Given the description of an element on the screen output the (x, y) to click on. 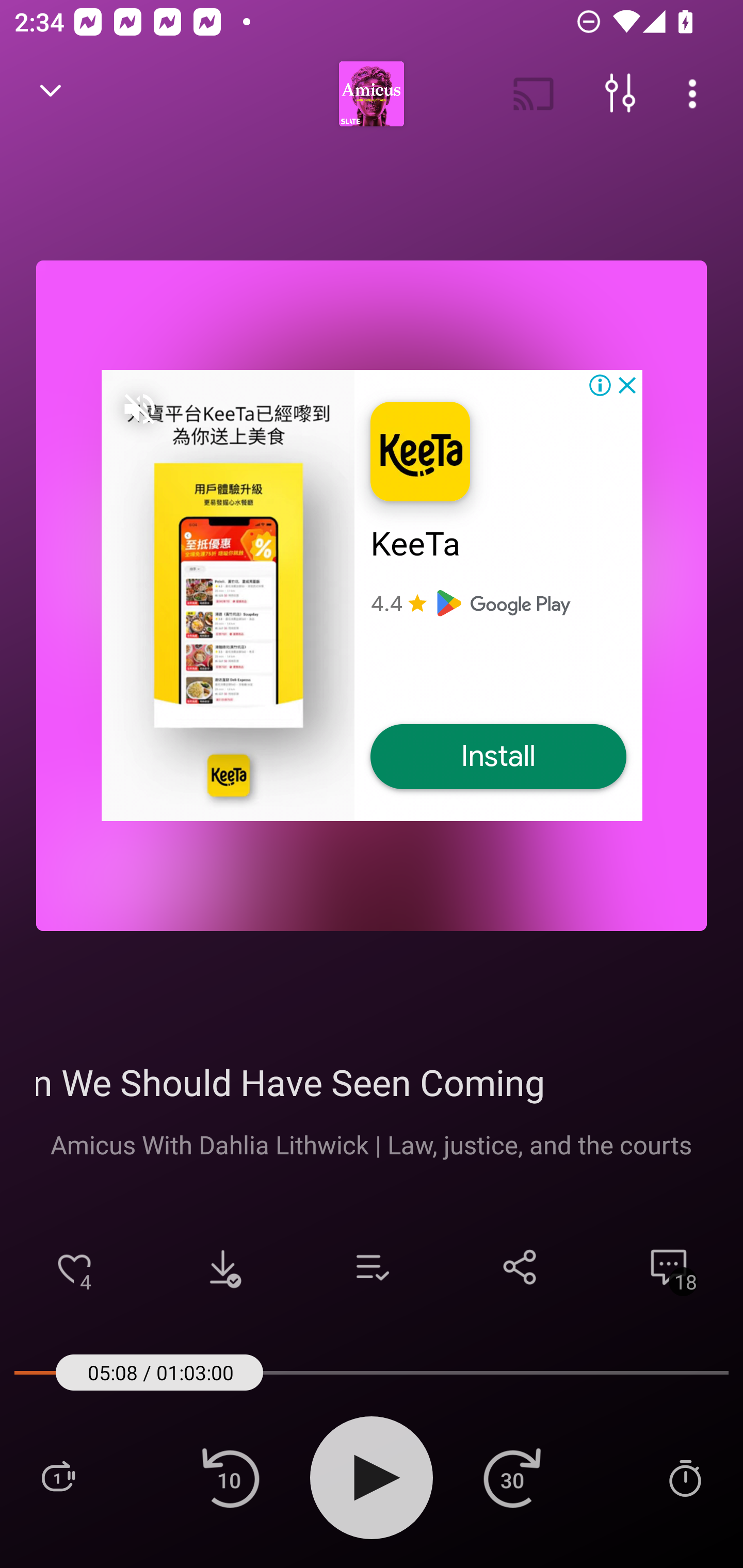
Cast. Disconnected (533, 93)
 Back (50, 94)
KeeTa 4.4 Install Install (371, 595)
Install (498, 757)
The IVF Decision We Should Have Seen Coming (371, 1081)
18 Comments (668, 1266)
Add to Favorites (73, 1266)
Add to playlist (371, 1266)
Share (519, 1266)
 Playlist (57, 1477)
Sleep Timer  (684, 1477)
